Given the description of an element on the screen output the (x, y) to click on. 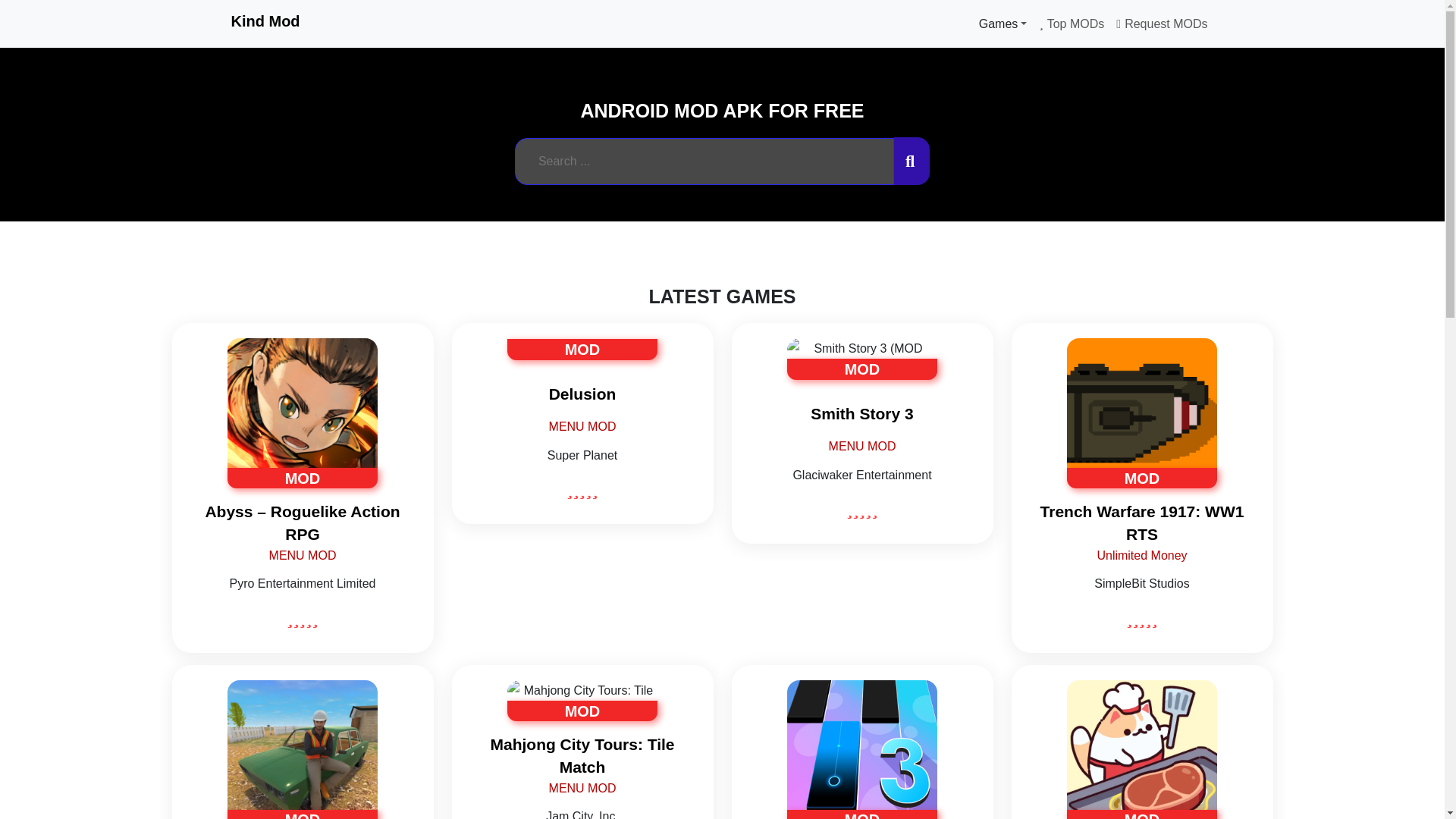
Delusion (582, 394)
Smith Story 3 (860, 414)
Games (1002, 23)
Top MODs (1070, 23)
Request MODs (1160, 23)
Trench Warfare 1917: WW1 RTS (1141, 522)
Kind Mod (264, 21)
Mahjong City Tours: Tile Match (582, 755)
